Given the description of an element on the screen output the (x, y) to click on. 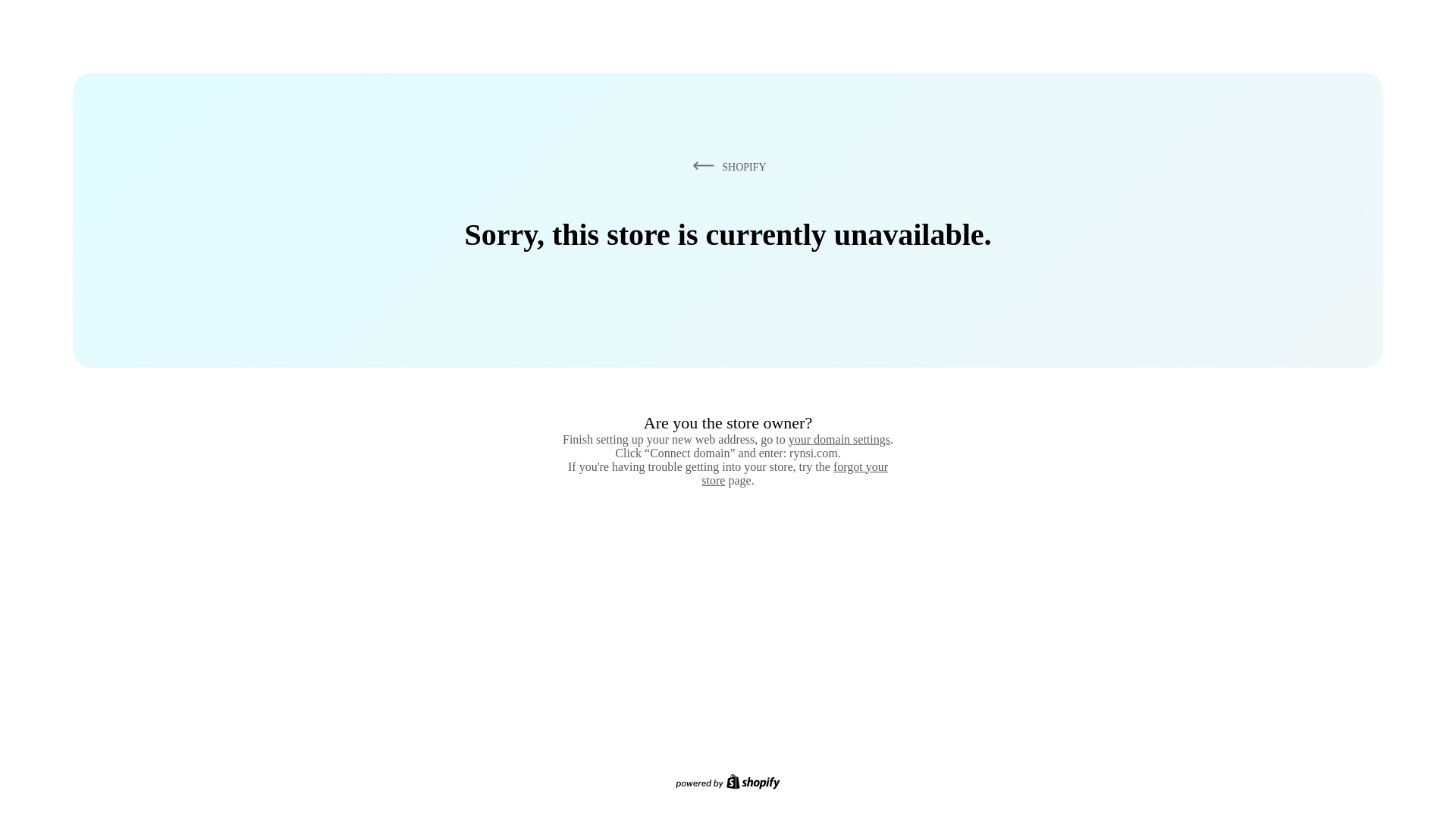
forgot your store (794, 473)
SHOPIFY (726, 166)
your domain settings (839, 439)
